Given the description of an element on the screen output the (x, y) to click on. 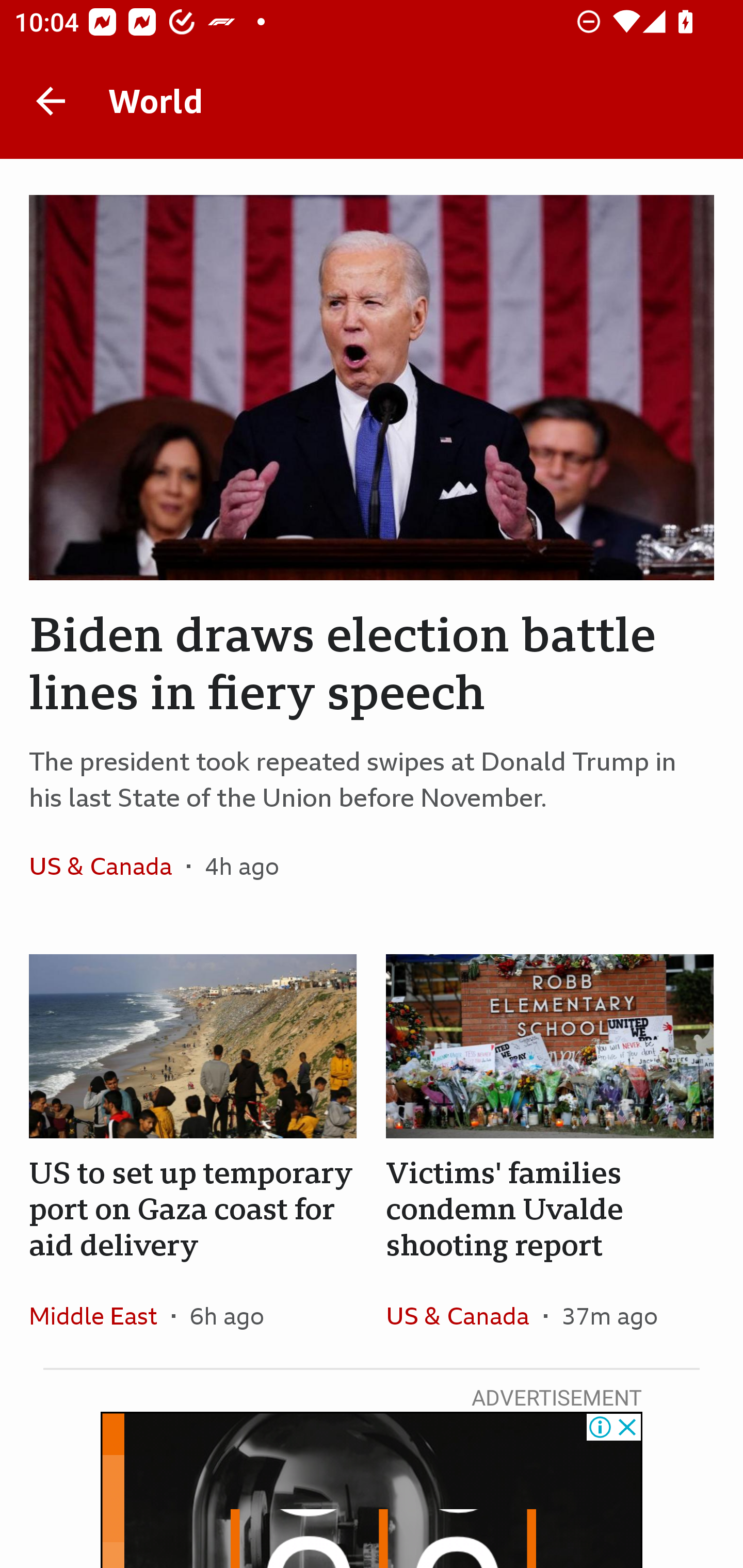
Back (50, 101)
US & Canada In the section US & Canada (107, 865)
Middle East In the section Middle East (99, 1315)
US & Canada In the section US & Canada (464, 1315)
